Given the description of an element on the screen output the (x, y) to click on. 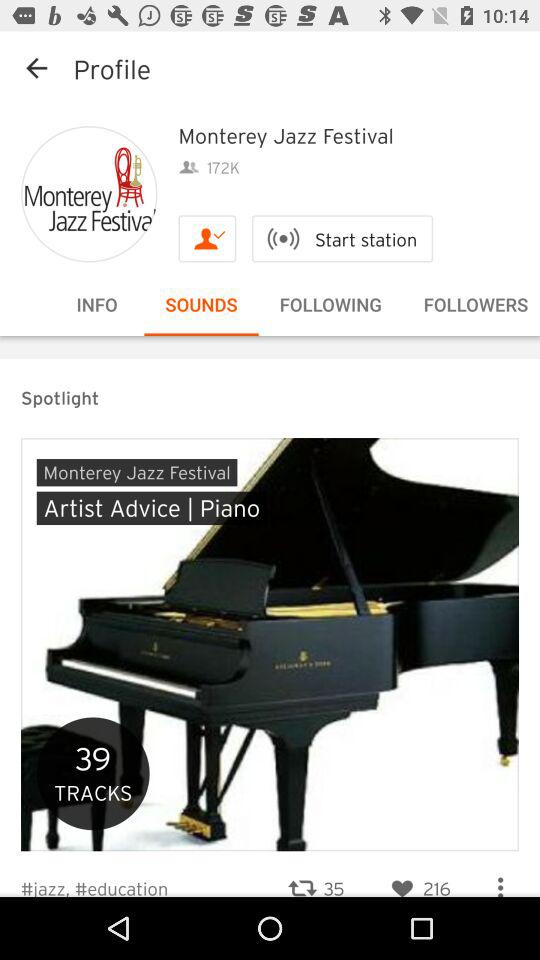
select the option following (330, 304)
select the image below profile button (89, 194)
click the first button on the image of the web page (137, 471)
click on the more button at bottom right corner (500, 879)
click on the button left to sound option in the menu bar (97, 304)
select the icon which is beside the start station (206, 239)
click the number 35 along with the button at the bottom of the page (314, 876)
